Given the description of an element on the screen output the (x, y) to click on. 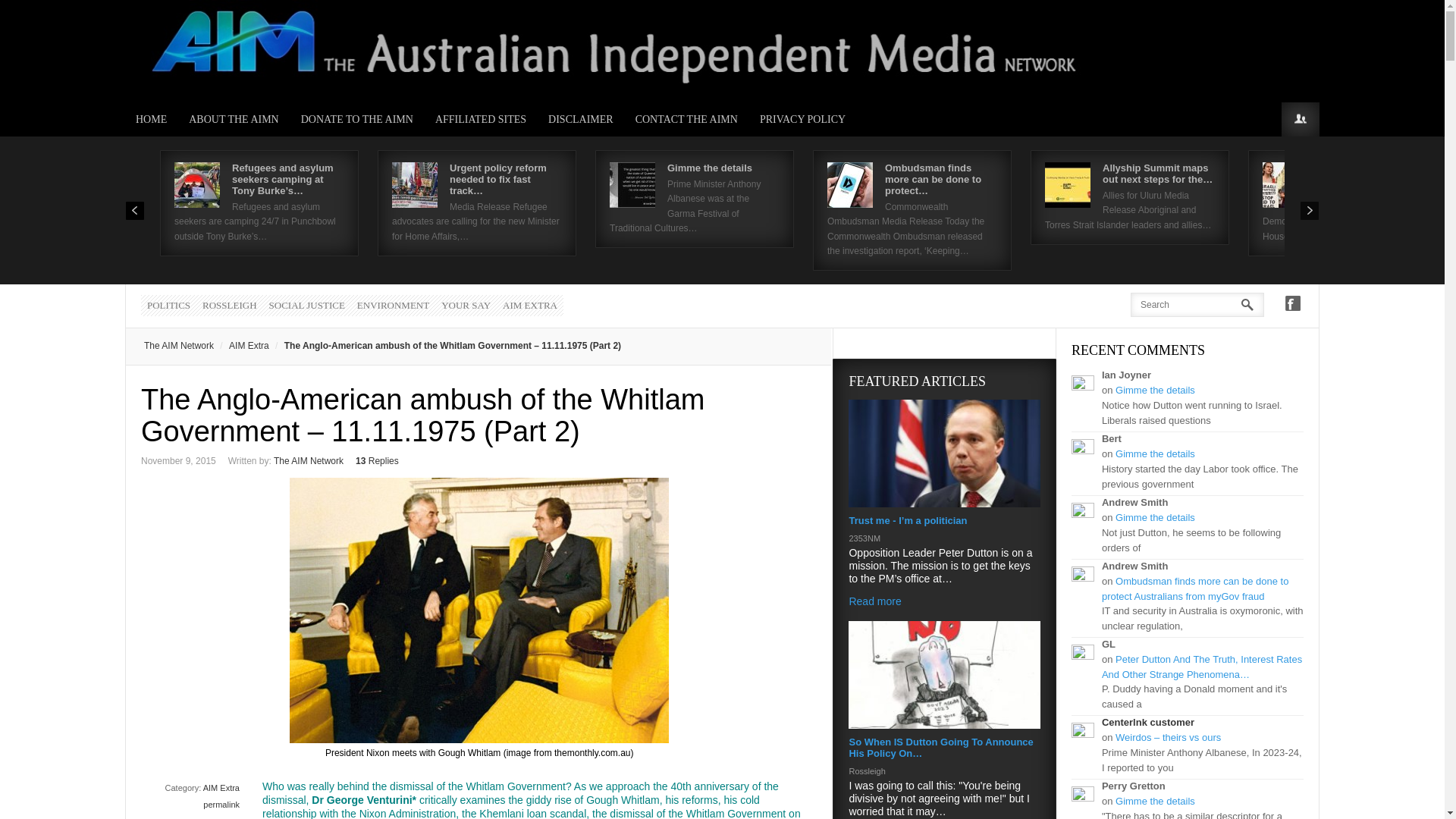
HOME (151, 119)
Gimme the details (709, 167)
AFFILIATED SITES (481, 119)
DONATE TO THE AIMN (357, 119)
AIM EXTRA (529, 305)
Gimme the details (709, 167)
permalink (221, 804)
PRIVACY POLICY (803, 119)
YOUR SAY (465, 305)
The AIM Network (308, 460)
AIM Extra (241, 345)
AIM Extra (221, 787)
Login (1300, 119)
POLITICS (168, 305)
CONTACT THE AIMN (686, 119)
